Given the description of an element on the screen output the (x, y) to click on. 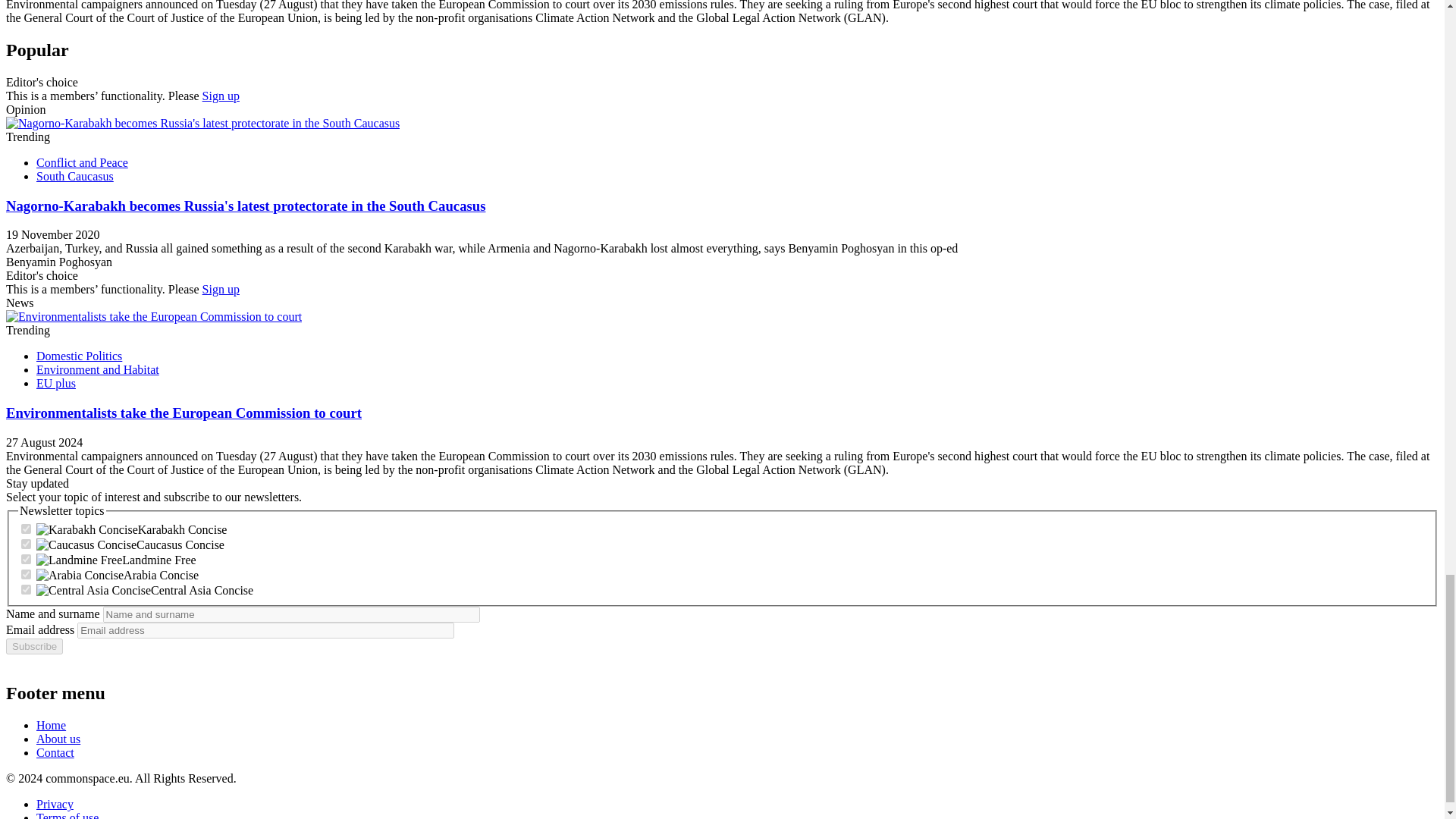
sclo (25, 559)
cc (25, 543)
ac (25, 574)
Subscribe (33, 646)
kc (25, 528)
cac (25, 589)
